Given the description of an element on the screen output the (x, y) to click on. 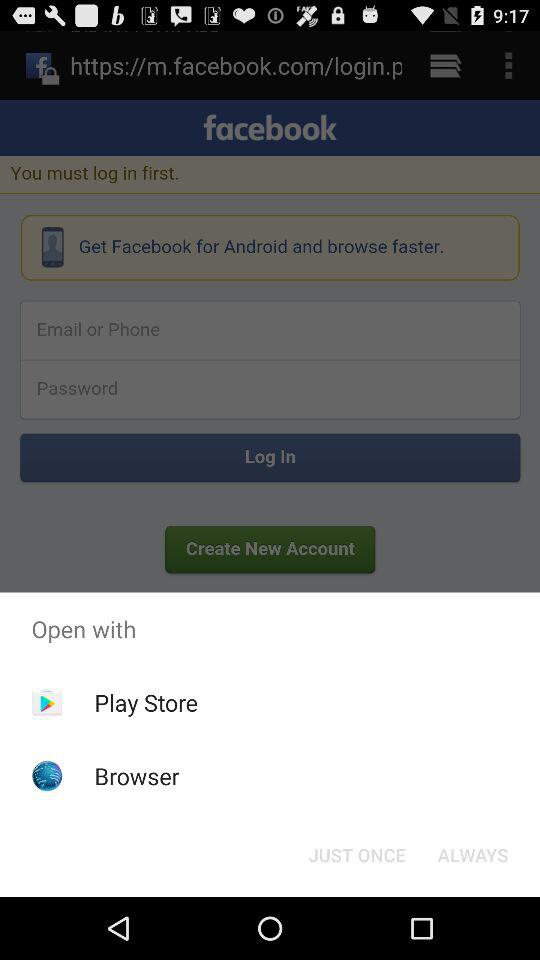
jump until the browser (136, 775)
